Given the description of an element on the screen output the (x, y) to click on. 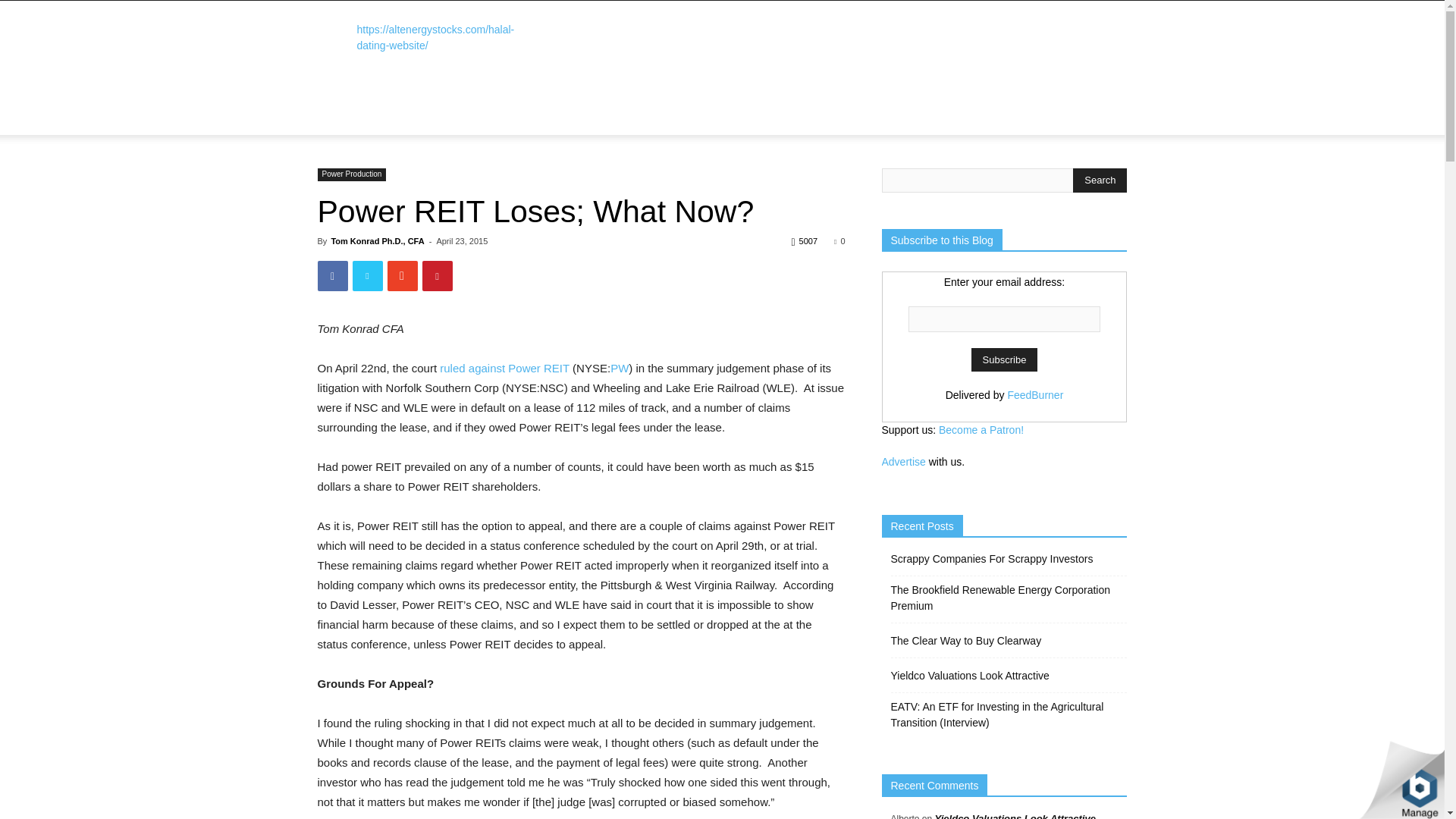
HOME (341, 106)
ELECTRIC GRID (363, 125)
WIND (603, 106)
EFFICIENT VEHICLES (466, 125)
Search (1099, 180)
ETFs (559, 106)
STOCK LISTS (405, 106)
MUTUAL FUNDS (491, 106)
SOLAR (653, 106)
ENERGY EFFICIENCY (944, 106)
Tom Konrad Ph.D., CFA (376, 240)
GEOTHERMAL (720, 106)
BATTERY (855, 106)
BIOFUEL (793, 106)
CONTACT (697, 125)
